Given the description of an element on the screen output the (x, y) to click on. 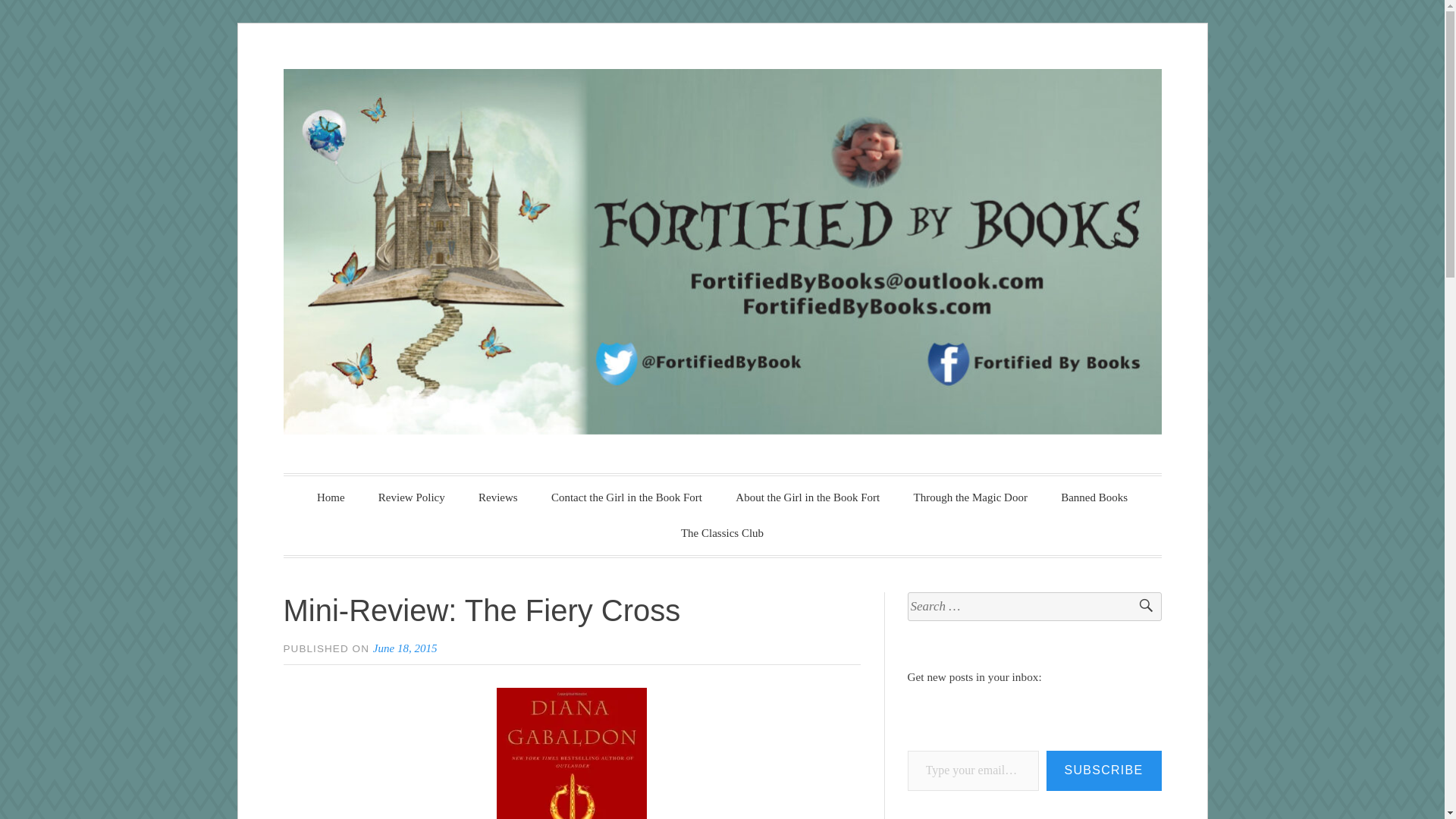
Banned Books (1093, 497)
June 18, 2015 (405, 648)
Search (1138, 606)
About the Girl in the Book Fort (807, 497)
Contact the Girl in the Book Fort (626, 497)
Search (1138, 606)
Through the Magic Door (970, 497)
Home (330, 497)
Reviews (497, 497)
SUBSCRIBE (1103, 771)
